Given the description of an element on the screen output the (x, y) to click on. 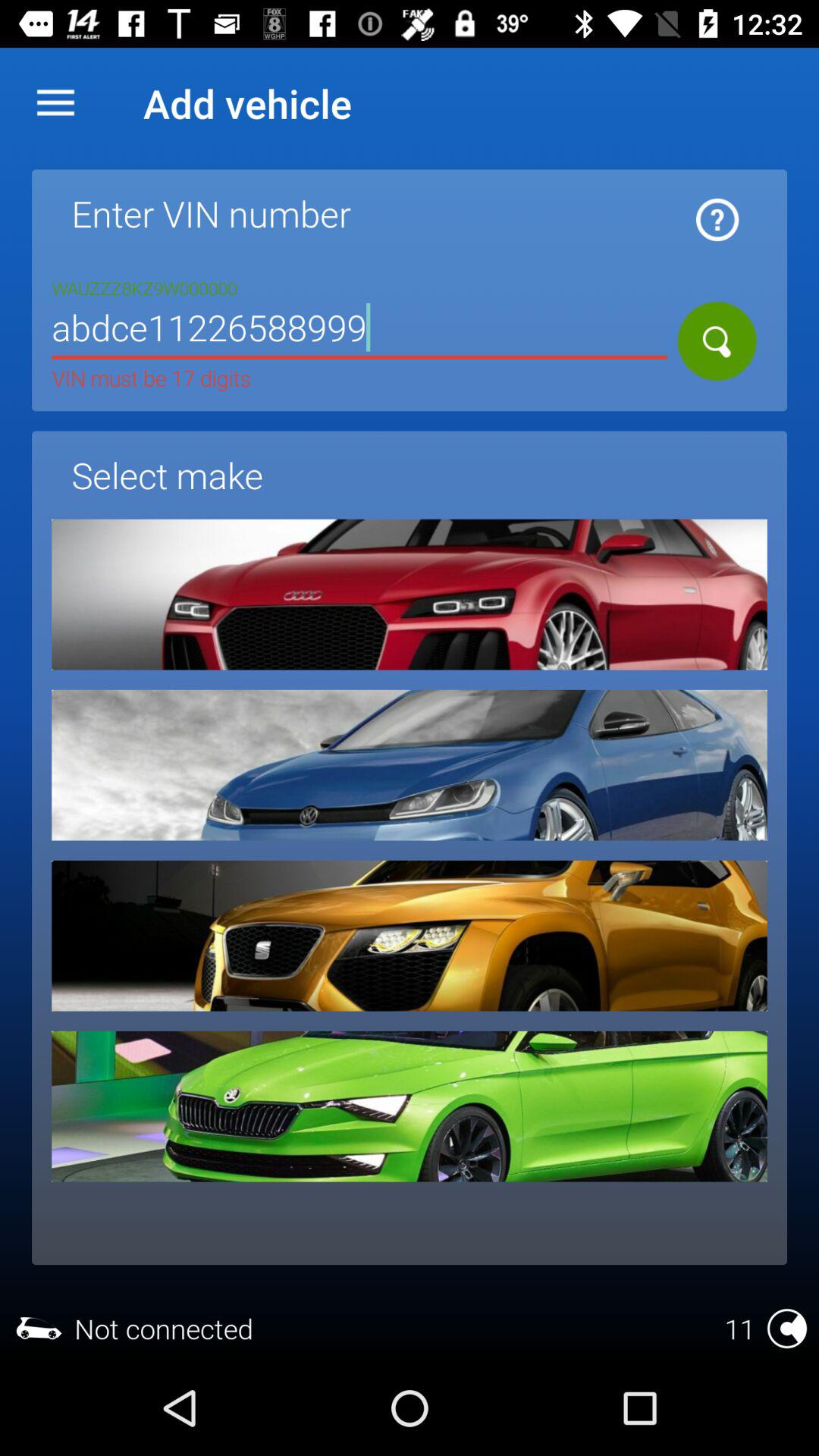
second make available (409, 764)
